Given the description of an element on the screen output the (x, y) to click on. 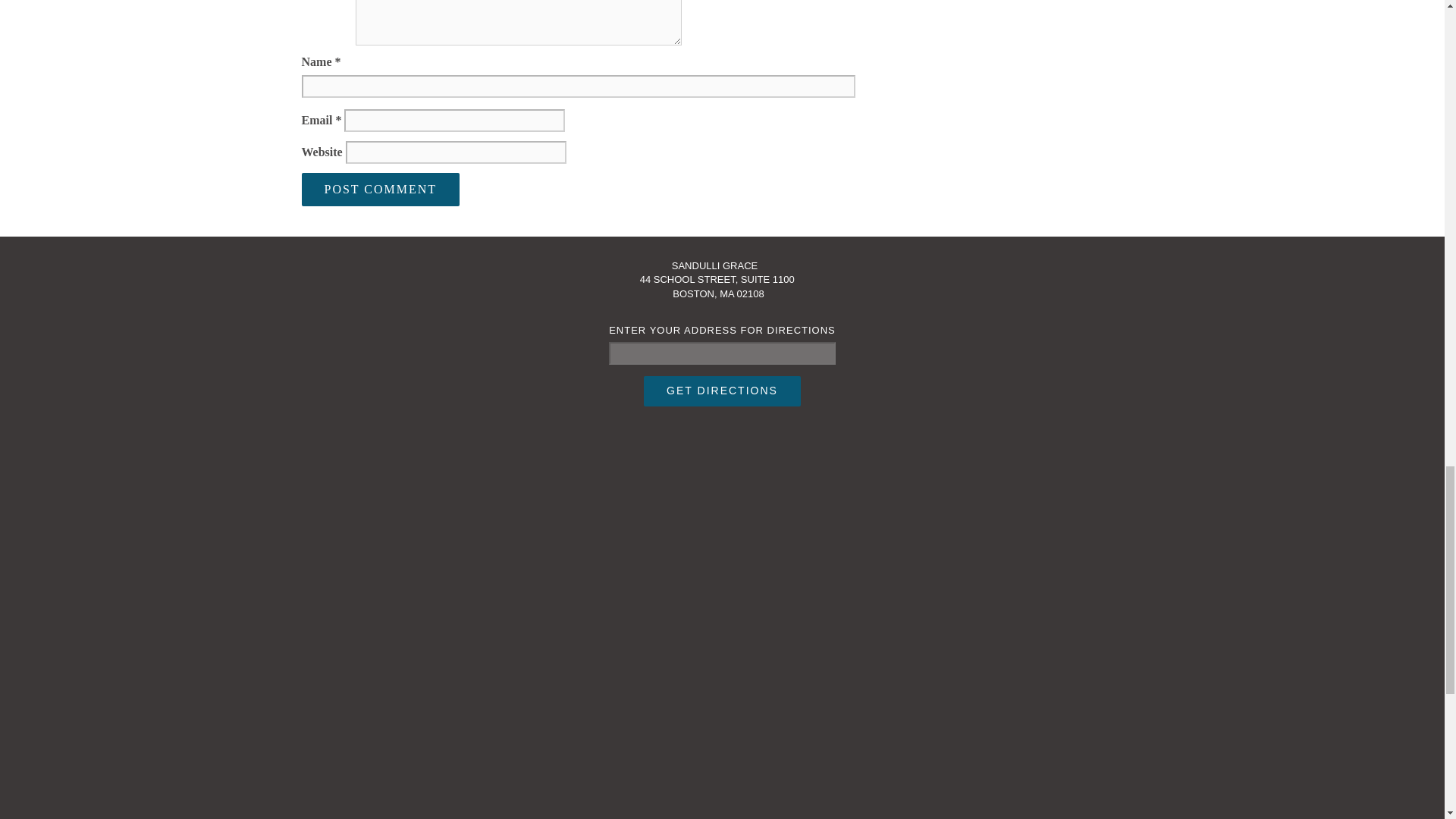
Post Comment (380, 189)
Get directions (721, 390)
Post Comment (380, 189)
